Given the description of an element on the screen output the (x, y) to click on. 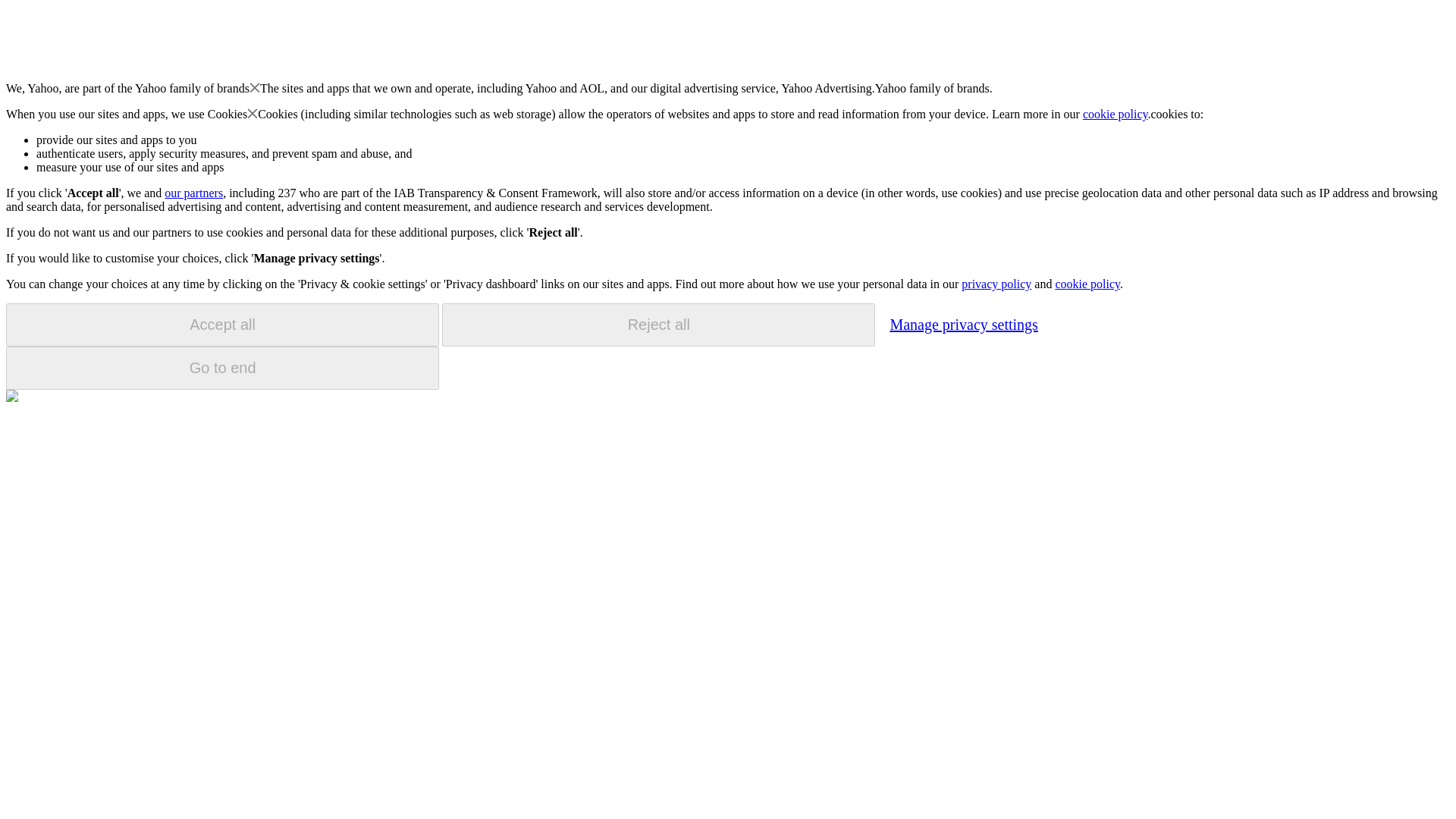
our partners (193, 192)
Accept all (222, 324)
privacy policy (995, 283)
Manage privacy settings (963, 323)
Reject all (658, 324)
Go to end (222, 367)
cookie policy (1086, 283)
cookie policy (1115, 113)
